Given the description of an element on the screen output the (x, y) to click on. 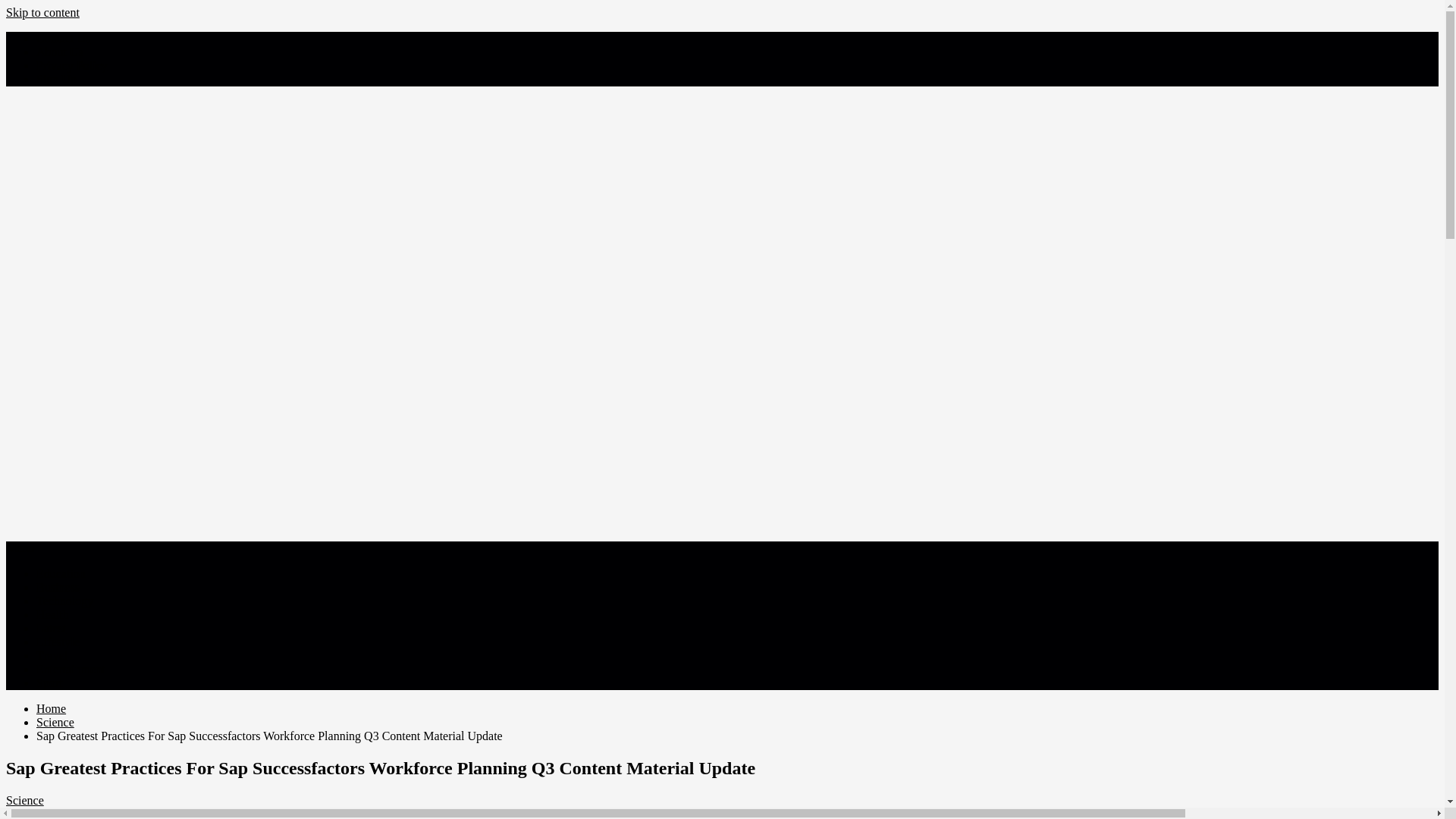
Sport (49, 682)
Sign Up (56, 78)
darrelgorman5 (239, 813)
Skip to content (42, 11)
Menu (19, 547)
Contact Us (63, 38)
Technology (64, 600)
Business (58, 586)
Health (52, 614)
About Us (59, 51)
